Given the description of an element on the screen output the (x, y) to click on. 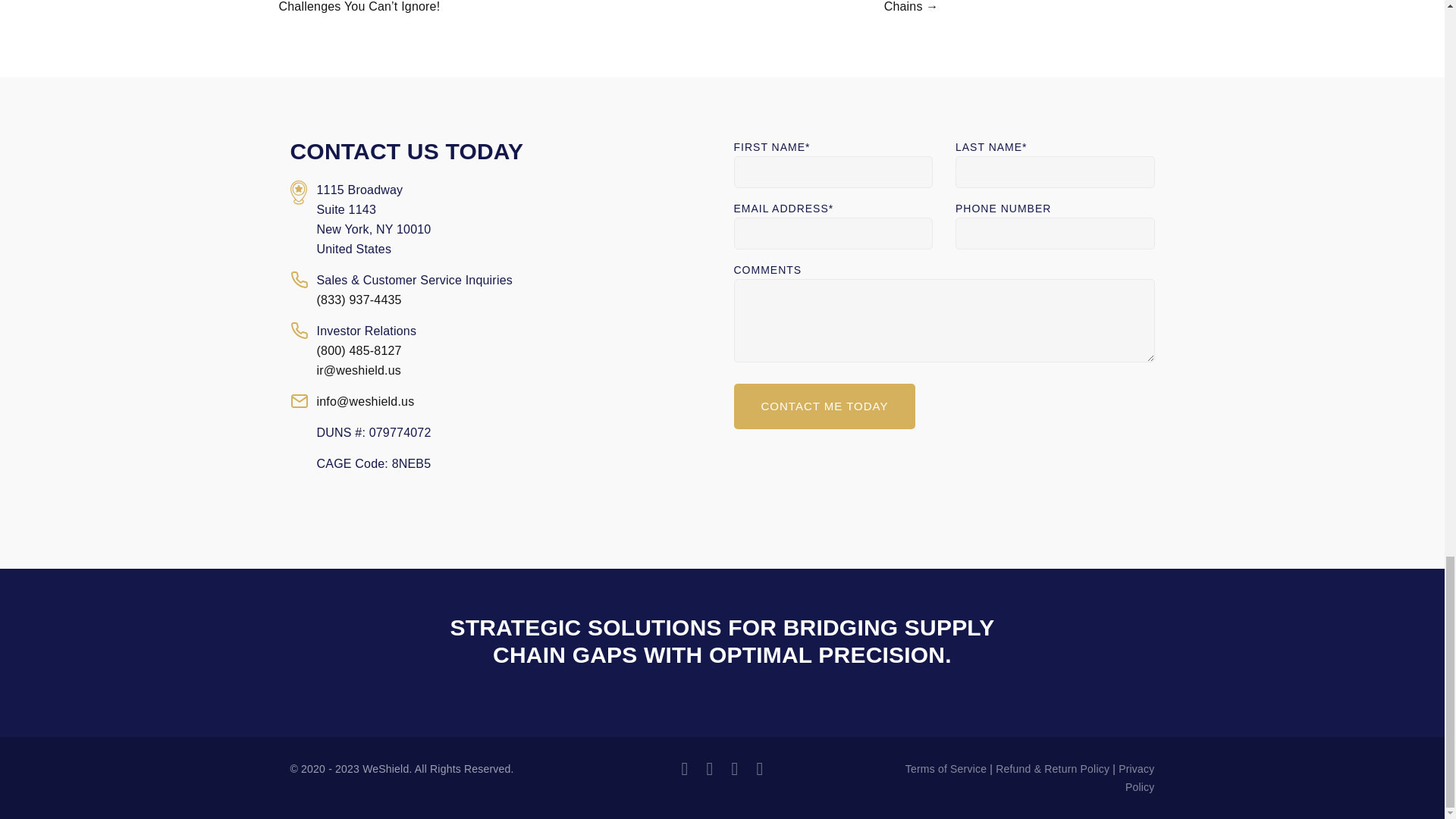
Privacy Policy (1136, 777)
CONTACT ME TODAY (824, 406)
Terms of Service (946, 768)
CONTACT ME TODAY (824, 406)
